Given the description of an element on the screen output the (x, y) to click on. 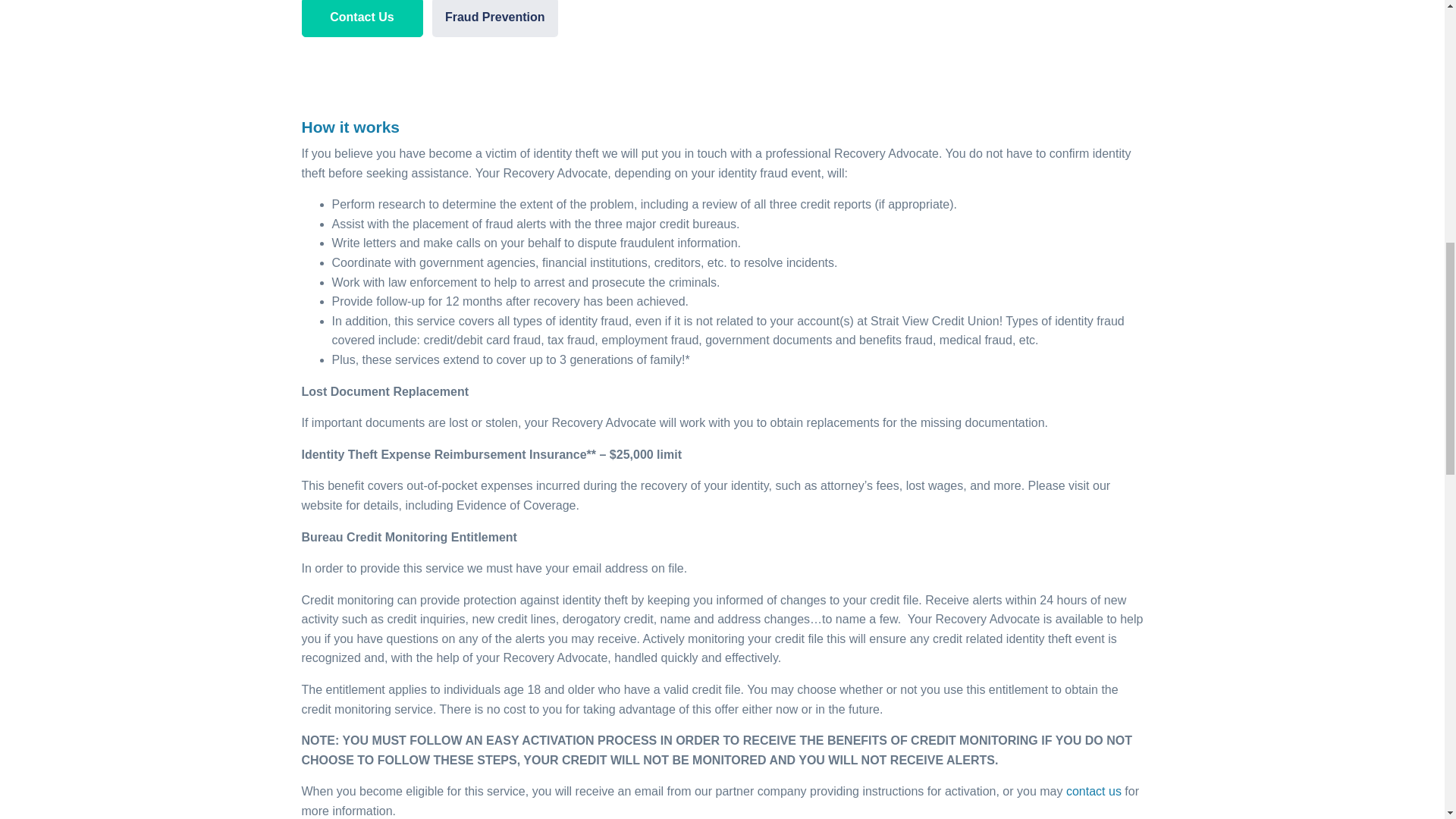
Contact Us (362, 18)
